Given the description of an element on the screen output the (x, y) to click on. 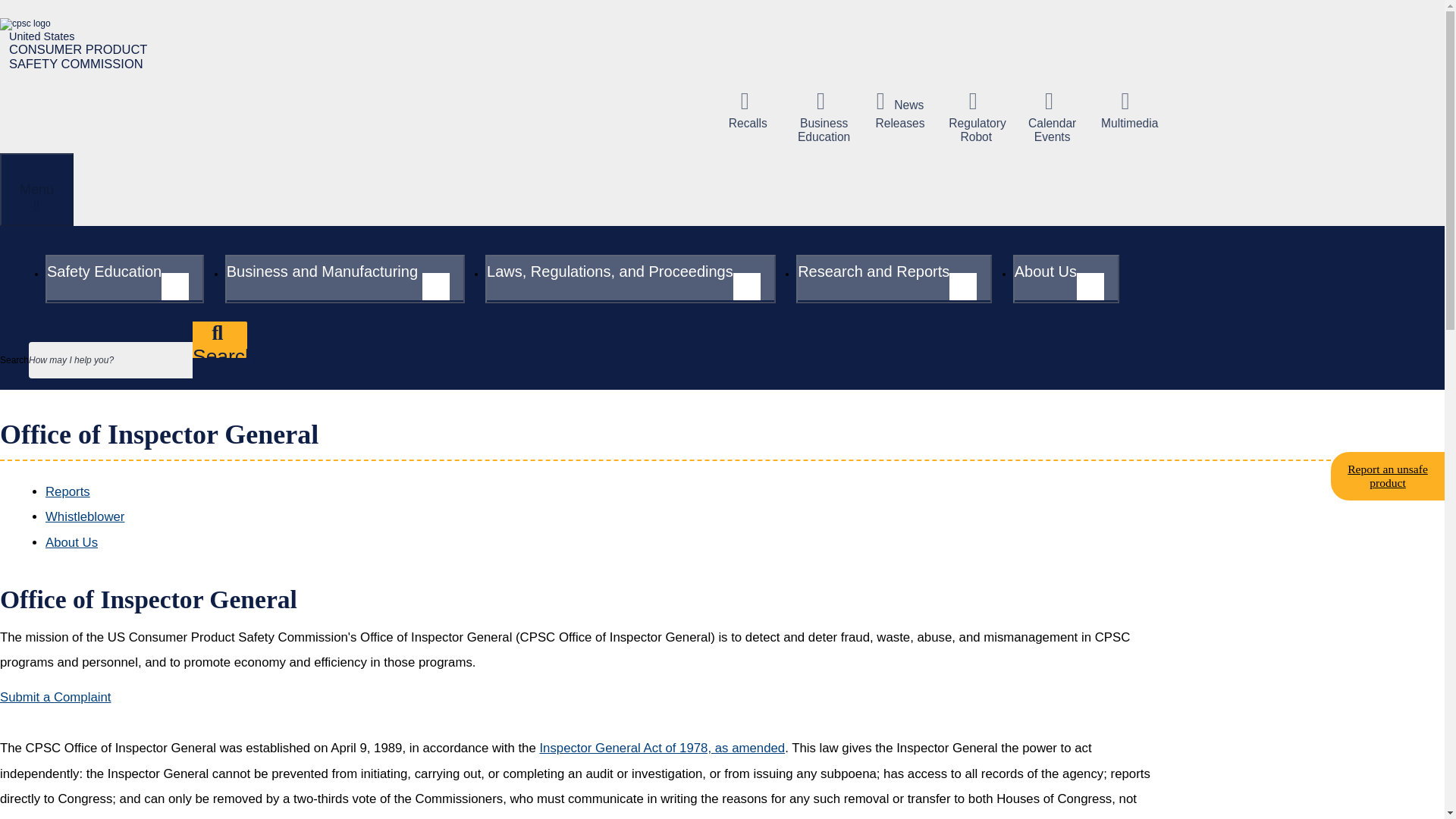
About Us (1066, 278)
Menu (37, 189)
CPSC home (81, 44)
Reports (67, 491)
Submit a Complaint (55, 697)
Business and Manufacturing (344, 278)
Recalls (747, 109)
Laws, Regulations, and Proceedings (630, 278)
Safety Education (124, 278)
 Search (219, 339)
Regulatory Robot (975, 116)
  Calendar Events (1052, 116)
Research and Reports (893, 278)
  Recalls (81, 44)
